Given the description of an element on the screen output the (x, y) to click on. 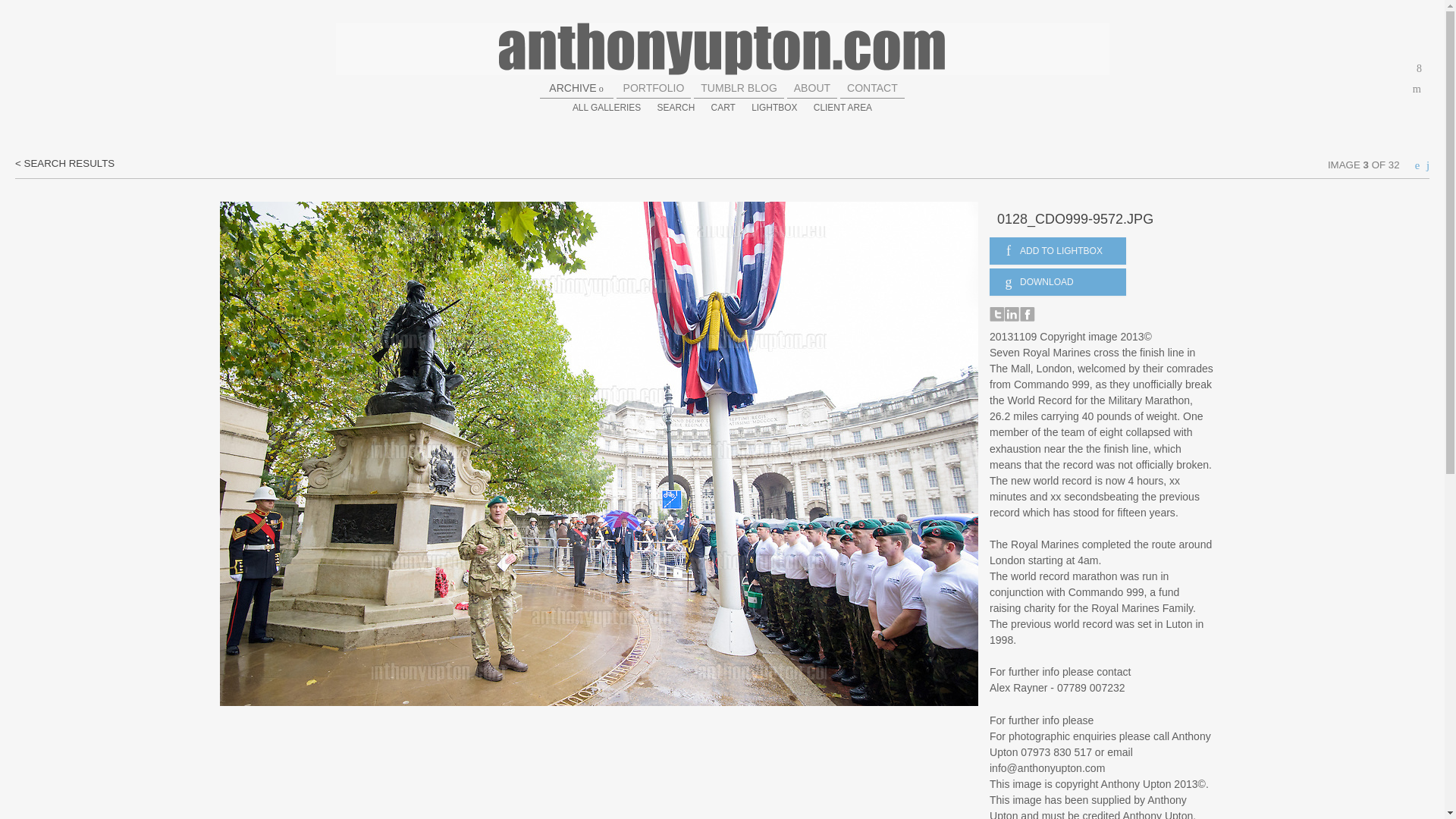
ALL GALLERIES (606, 107)
SEARCH (676, 107)
LIGHTBOX (773, 107)
ANTHONYUPTON.COM (721, 48)
CONTACT (872, 87)
DOWNLOAD (1057, 281)
anthonyupton.com (721, 48)
Share This (1419, 68)
ABOUT (811, 87)
PORTFOLIO (653, 87)
x (1419, 68)
SEARCH RESULTS (64, 163)
CLIENT AREA (842, 107)
CART (723, 107)
ADD TO LIGHTBOX (1057, 250)
